Given the description of an element on the screen output the (x, y) to click on. 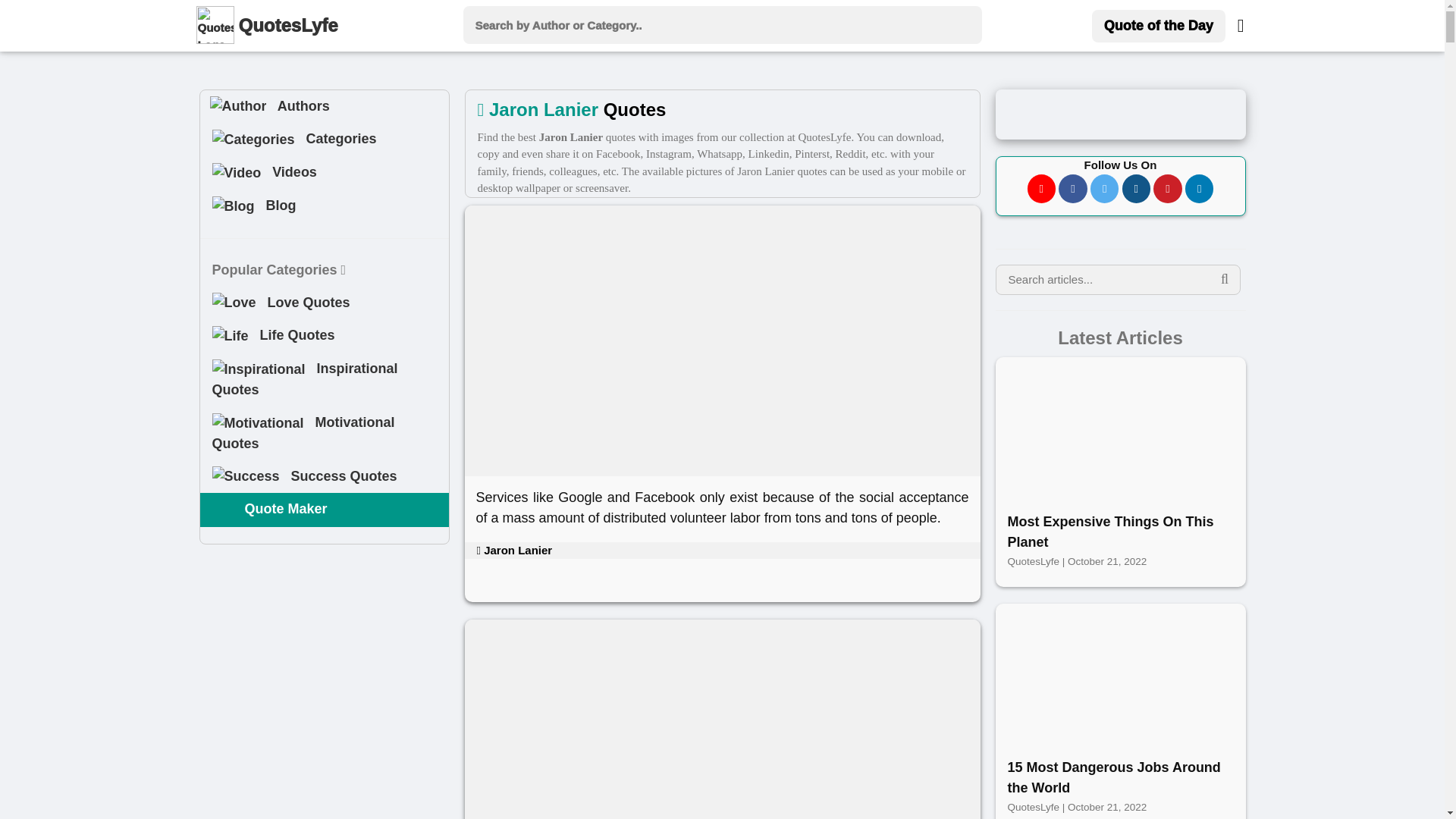
Life (230, 335)
QuotesLyfe (290, 25)
  Motivational Quotes (324, 433)
Blog (233, 205)
Author (237, 106)
  Life Quotes (324, 335)
Video (237, 172)
Quote of the Day (1158, 25)
  Quote Maker (324, 509)
Quote Maker (222, 509)
